Given the description of an element on the screen output the (x, y) to click on. 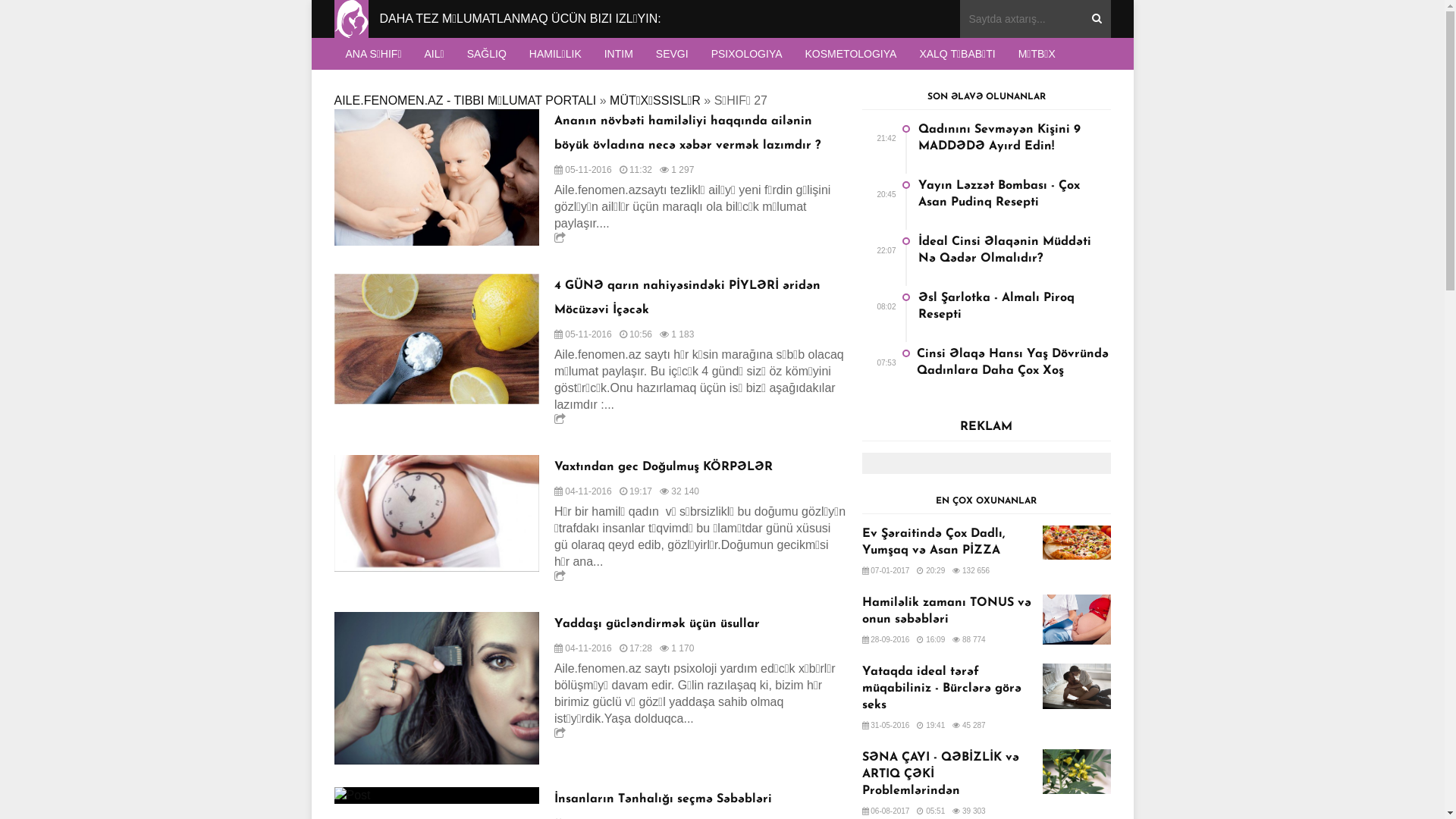
KOSMETOLOGIYA Element type: text (850, 53)
SEVGI Element type: text (671, 53)
INTIM Element type: text (618, 53)
PSIXOLOGIYA Element type: text (746, 53)
